Given the description of an element on the screen output the (x, y) to click on. 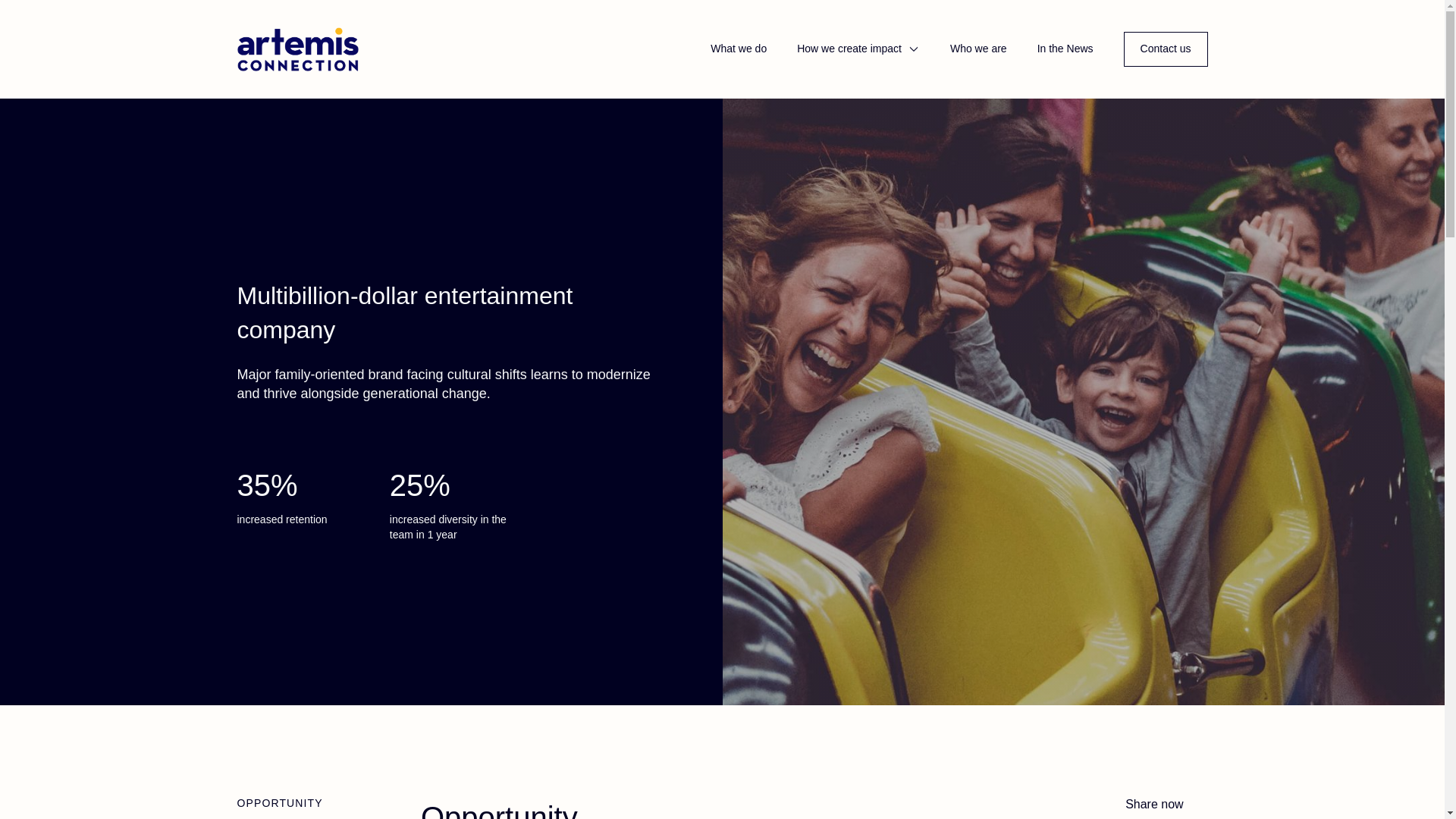
Who we are (978, 49)
Contact us (1166, 48)
OPPORTUNITY (278, 803)
What we do (738, 49)
In the News (1064, 49)
